Given the description of an element on the screen output the (x, y) to click on. 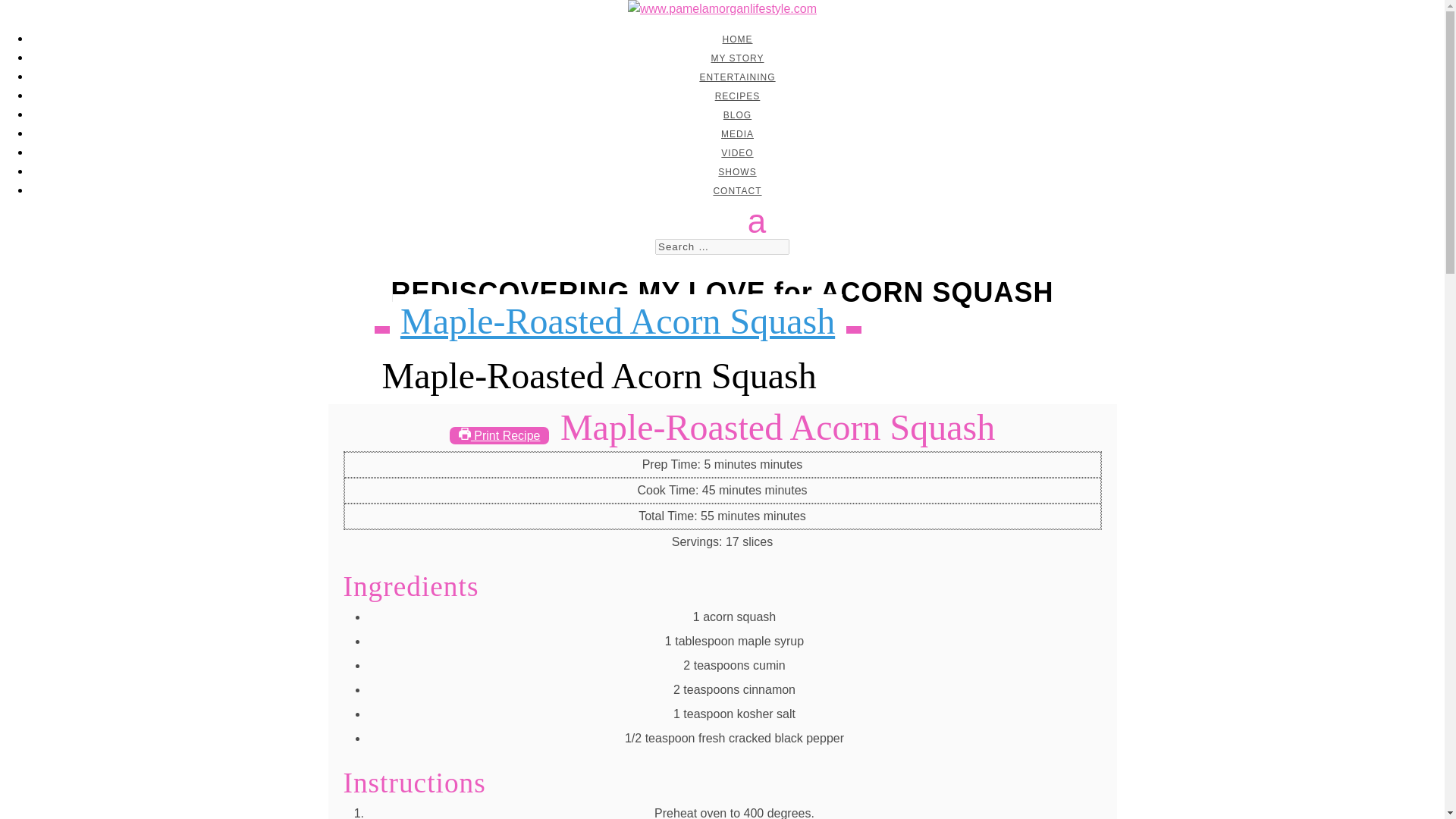
SHOWS (736, 172)
RECIPES (737, 95)
CONTACT (737, 190)
Print Recipe (499, 435)
ENTERTAINING (736, 77)
Maple-Roasted Acorn Squash (617, 321)
Search for: (722, 246)
HOME (737, 39)
VIDEO (736, 153)
BLOG (737, 114)
MEDIA (737, 133)
MY STORY (736, 58)
